Given the description of an element on the screen output the (x, y) to click on. 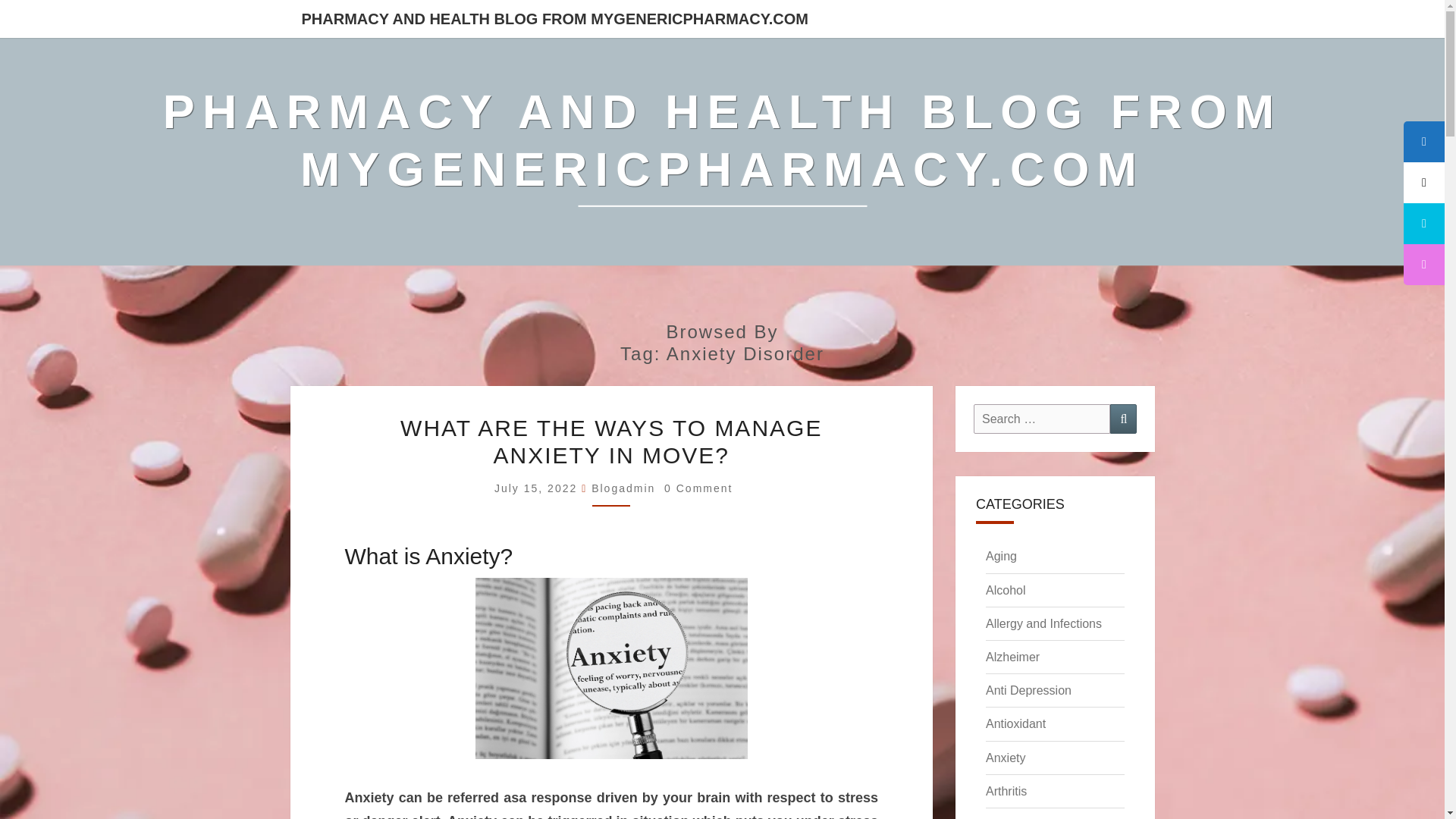
Anti Depression (1028, 689)
0 Comment (697, 488)
Allergy and Infections (1043, 623)
Aging (1000, 555)
Search for: (1041, 419)
PHARMACY AND HEALTH BLOG FROM MYGENERICPHARMACY.COM (554, 18)
WHAT ARE THE WAYS TO MANAGE ANXIETY IN MOVE? (611, 441)
Birth control (1017, 818)
Antioxidant (1015, 723)
Search (1123, 419)
